Given the description of an element on the screen output the (x, y) to click on. 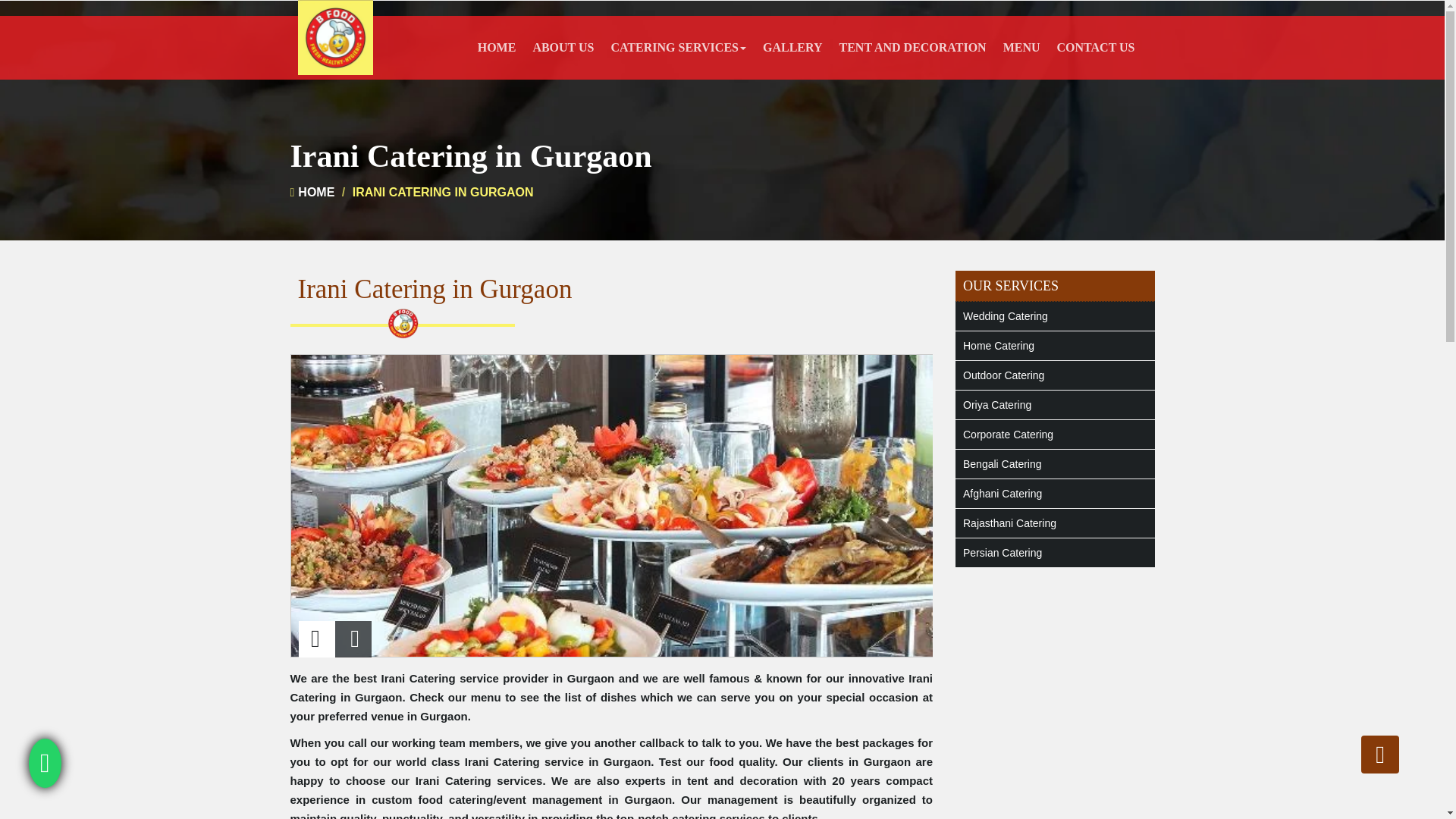
Corporate Catering in Gurgaon (1054, 434)
Home Catering (1054, 345)
Afghani Catering in Gurgaon (1054, 493)
CONTACT US (1095, 47)
TENT AND DECORATION (912, 47)
Rajasthani Catering in Gurgaon (1054, 522)
Wedding Catering in Gurgaon (1054, 316)
ABOUT US (563, 47)
ABOUT US (563, 47)
Oriya Catering in Gurgaon (1054, 404)
HOME (311, 192)
Wedding Catering (1054, 316)
Bengali Catering in Gurgaon (1054, 463)
Outdoor Catering in Gurgaon (1054, 375)
